Given the description of an element on the screen output the (x, y) to click on. 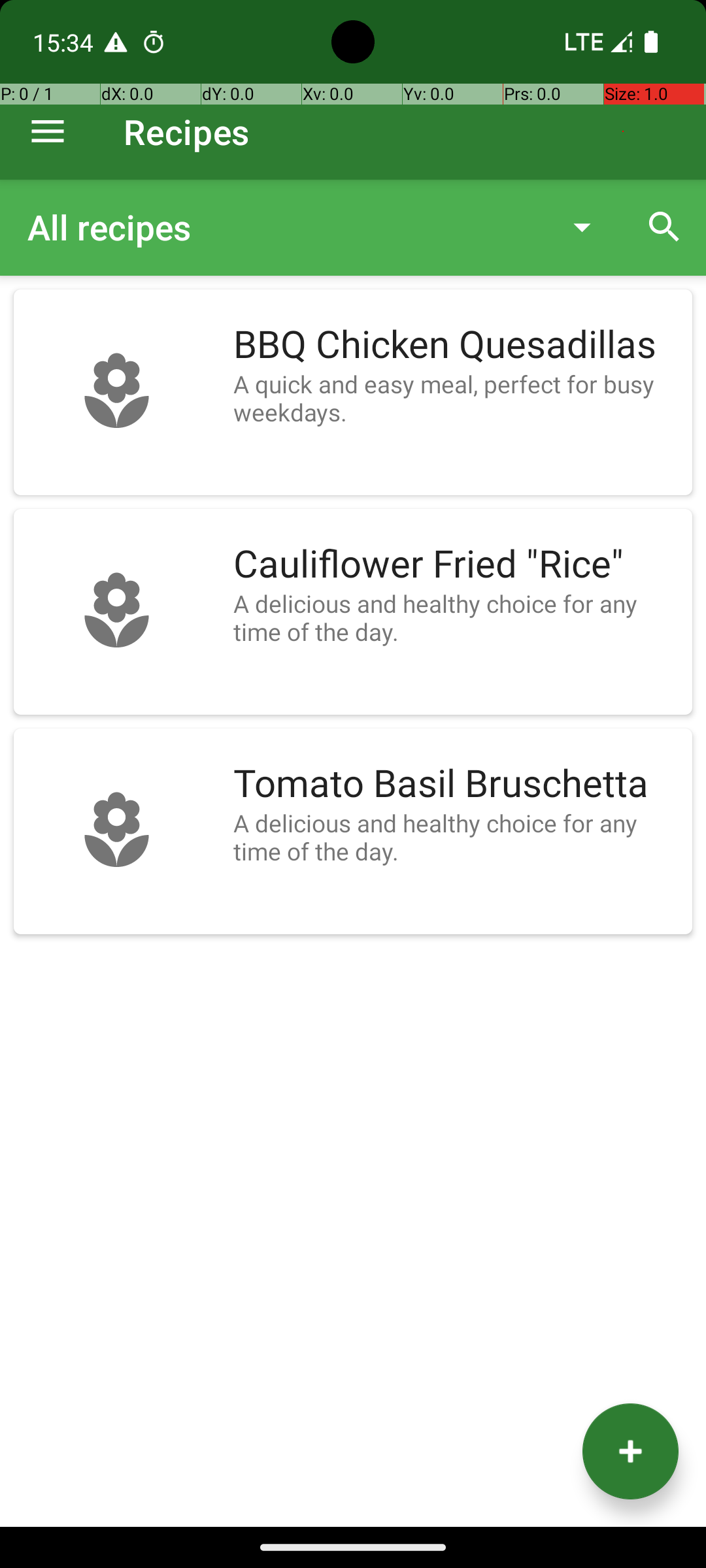
Tomato Basil Bruschetta Element type: android.widget.TextView (455, 783)
